Given the description of an element on the screen output the (x, y) to click on. 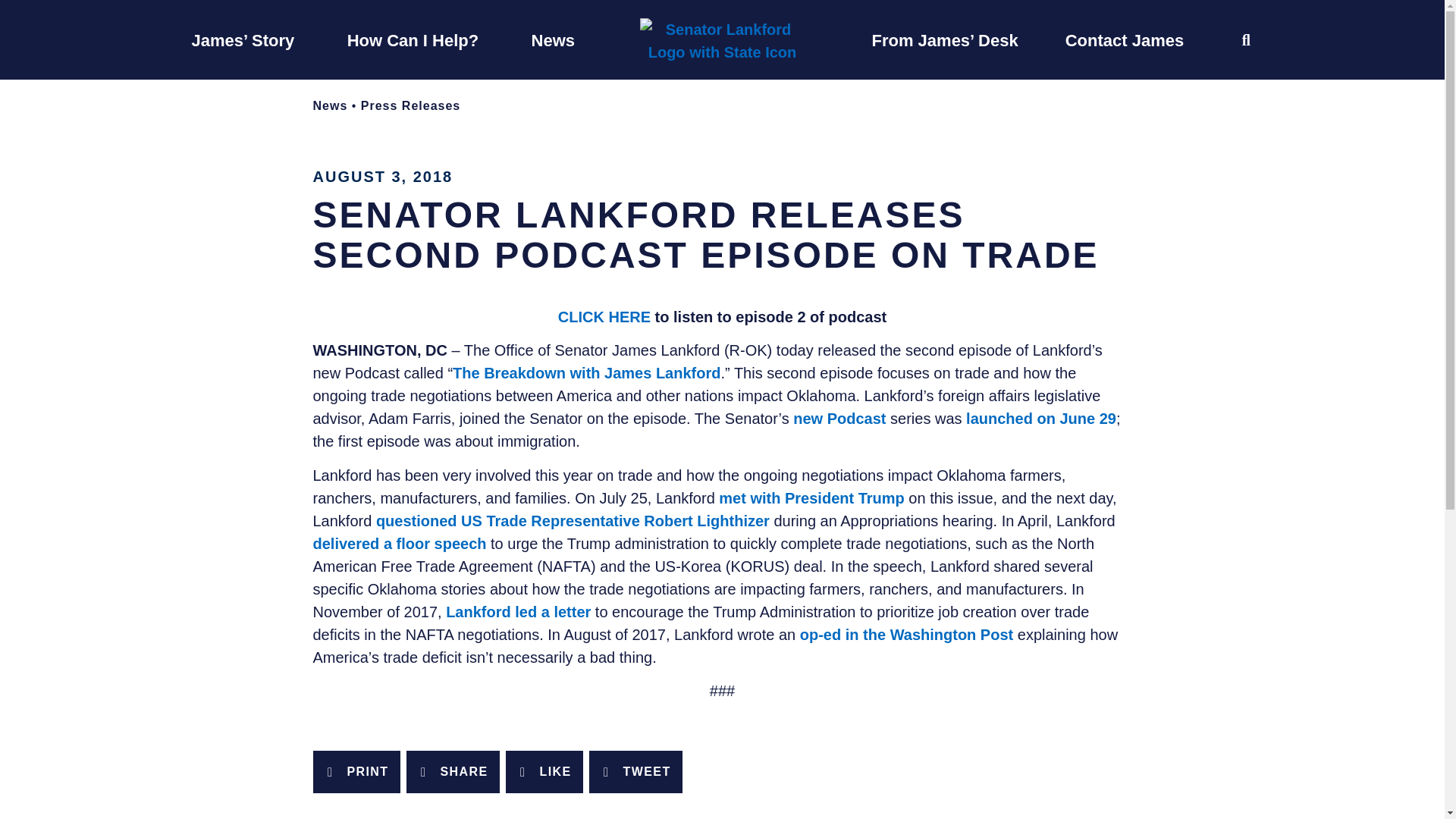
News (553, 38)
Contact James (1125, 38)
OPEN SEARCH (1246, 38)
News (330, 105)
How Can I Help? (413, 38)
